Given the description of an element on the screen output the (x, y) to click on. 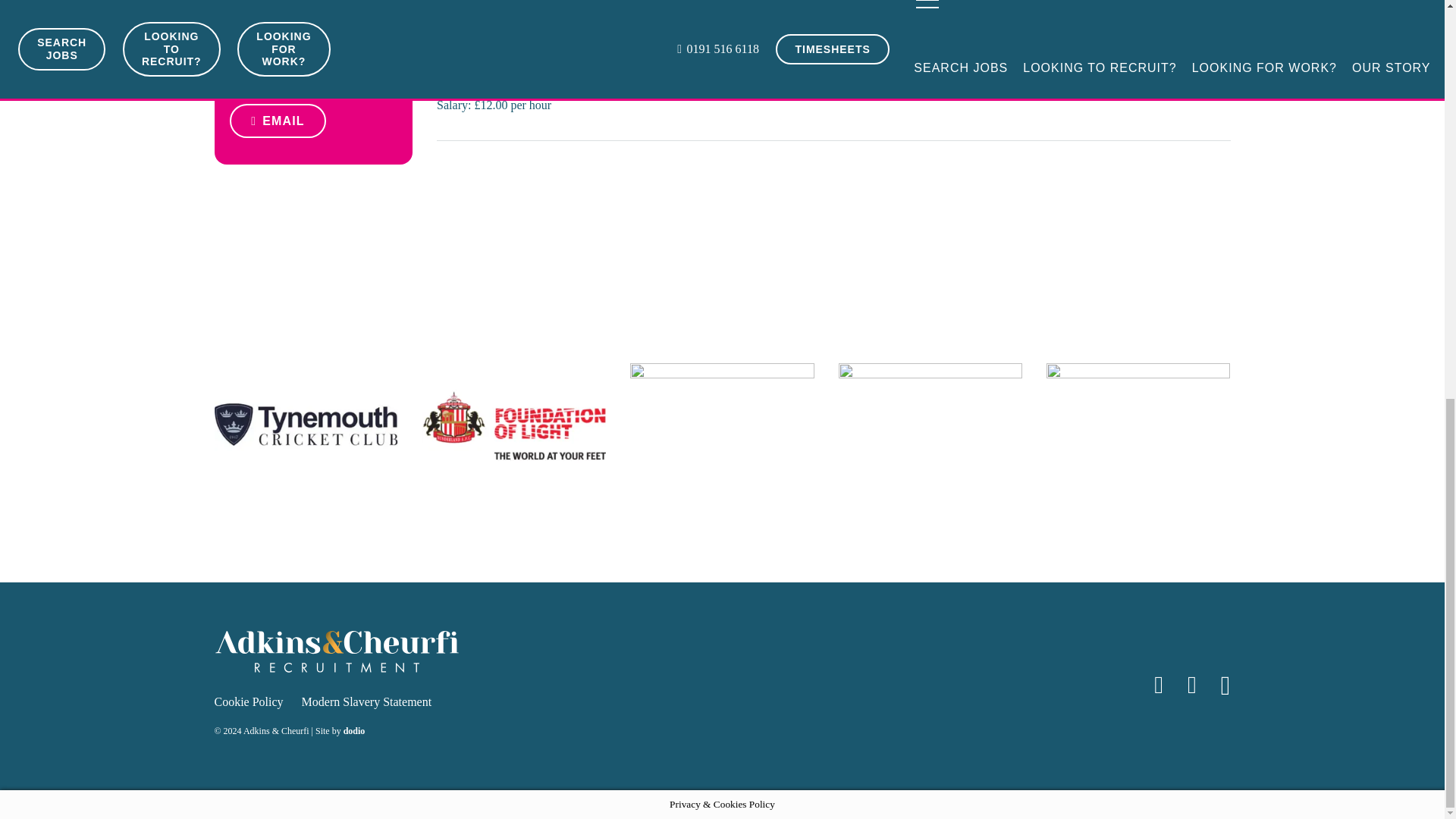
Back to top (1413, 70)
Cookie Policy (248, 701)
dodio (354, 730)
Modern Slavery Statement (366, 701)
